Given the description of an element on the screen output the (x, y) to click on. 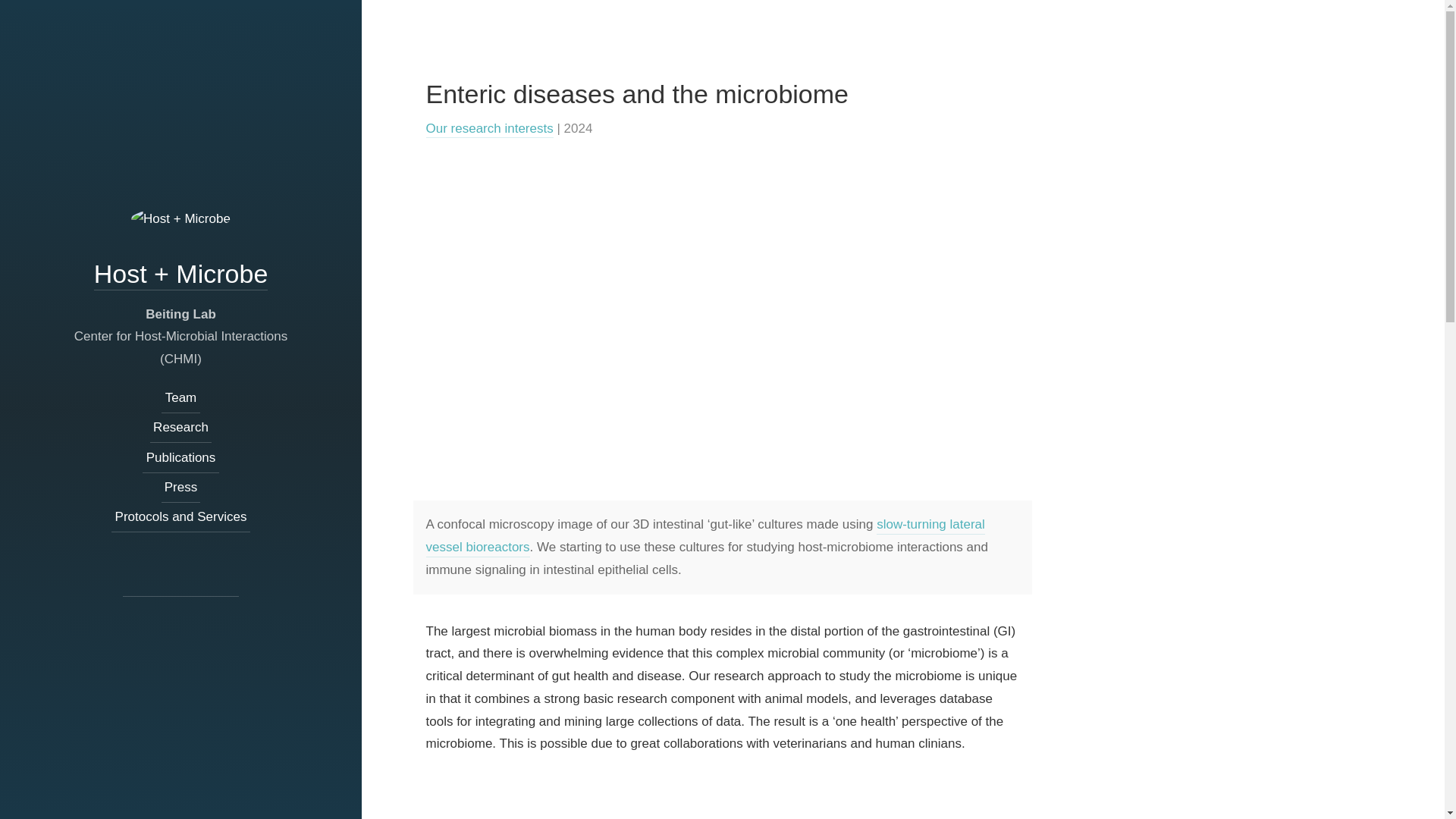
Research (180, 428)
Team (180, 398)
Protocols and Services (180, 517)
Publications (180, 457)
Press (180, 487)
